Given the description of an element on the screen output the (x, y) to click on. 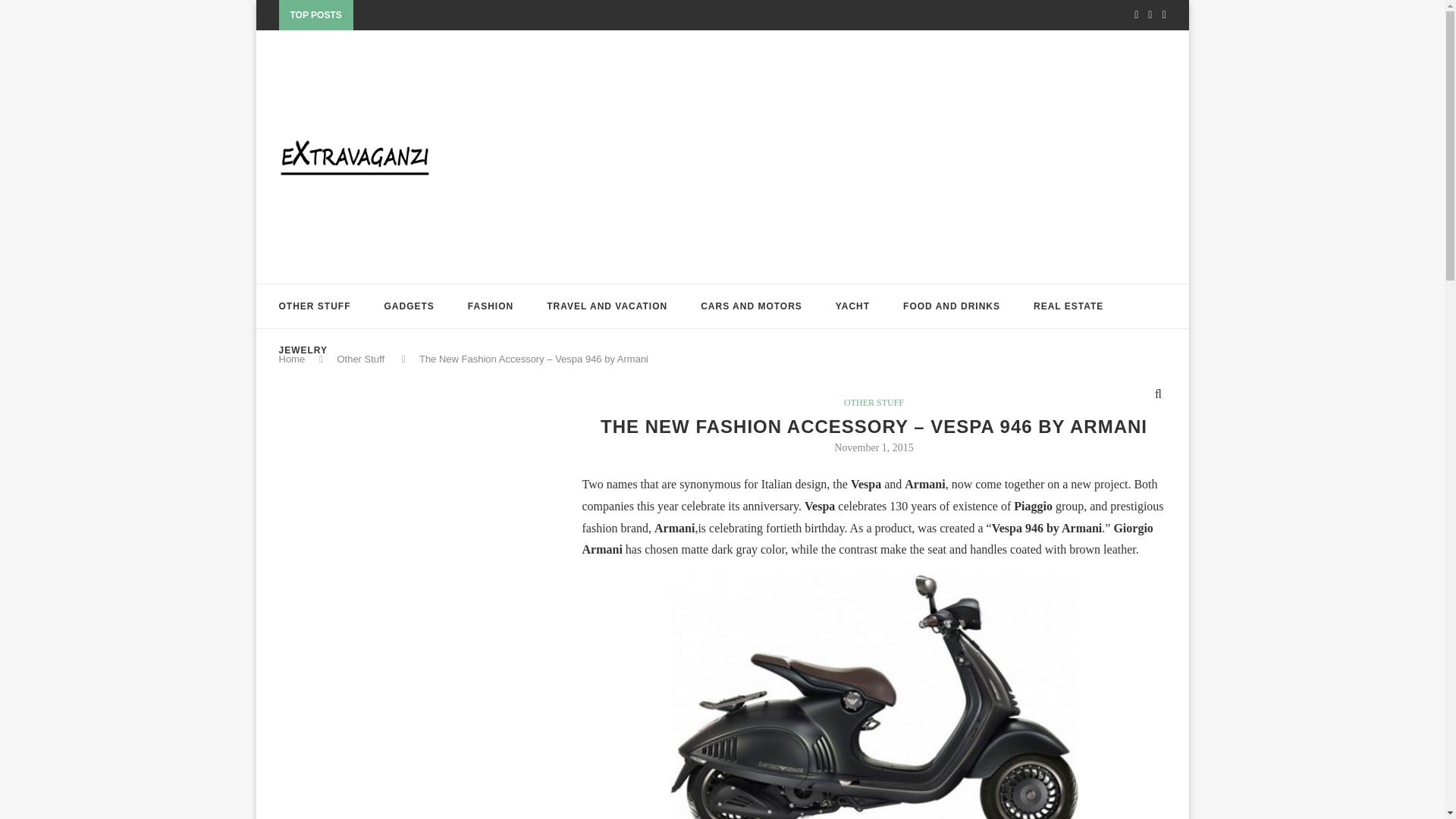
TRAVEL AND VACATION (606, 306)
View all posts in Other Stuff (874, 402)
OTHER STUFF (314, 306)
Advertisement (392, 538)
REAL ESTATE (1068, 306)
GADGETS (408, 306)
FOOD AND DRINKS (951, 306)
CARS AND MOTORS (751, 306)
FASHION (490, 306)
